Given the description of an element on the screen output the (x, y) to click on. 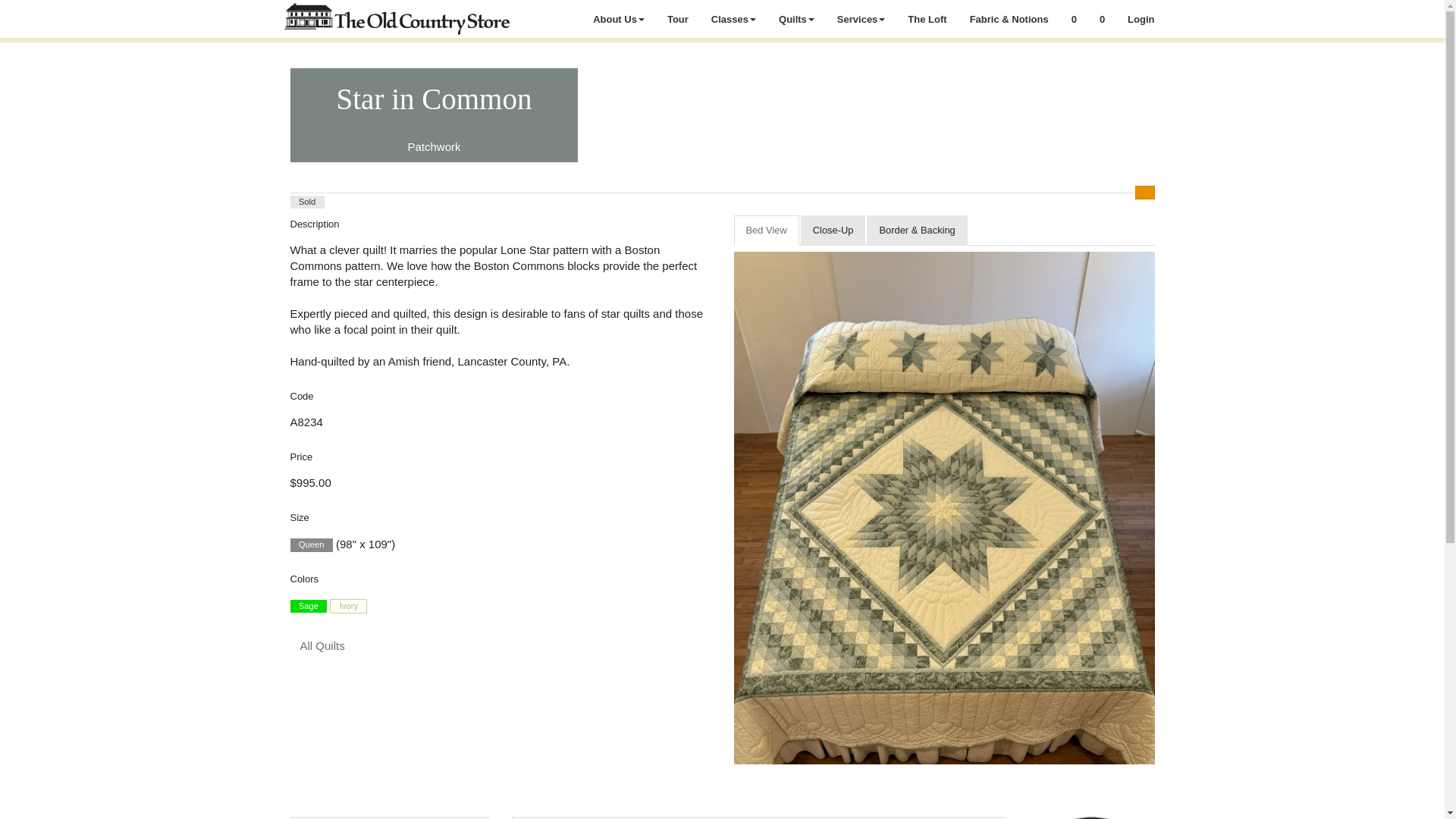
Queen (310, 545)
Sold (306, 202)
Login (1141, 18)
About Us (618, 18)
Sage (307, 606)
Tour (678, 18)
Services (860, 18)
Close-Up (833, 230)
Bed View (766, 230)
Classes (733, 18)
